Given the description of an element on the screen output the (x, y) to click on. 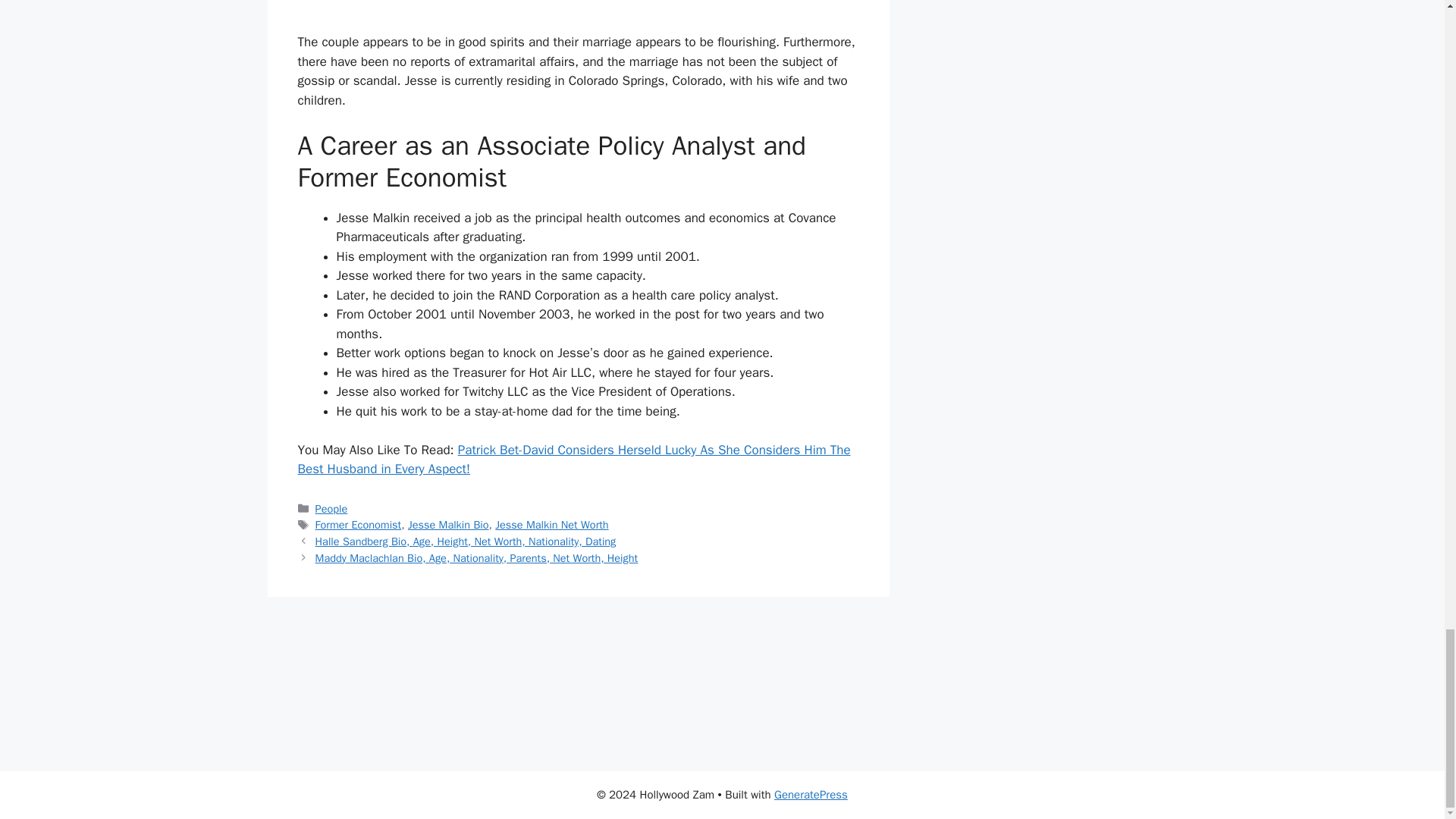
Former Economist (358, 524)
Jesse Malkin Net Worth (551, 524)
Advertisement (578, 16)
Jesse Malkin Bio (448, 524)
People (331, 508)
GeneratePress (810, 794)
